Given the description of an element on the screen output the (x, y) to click on. 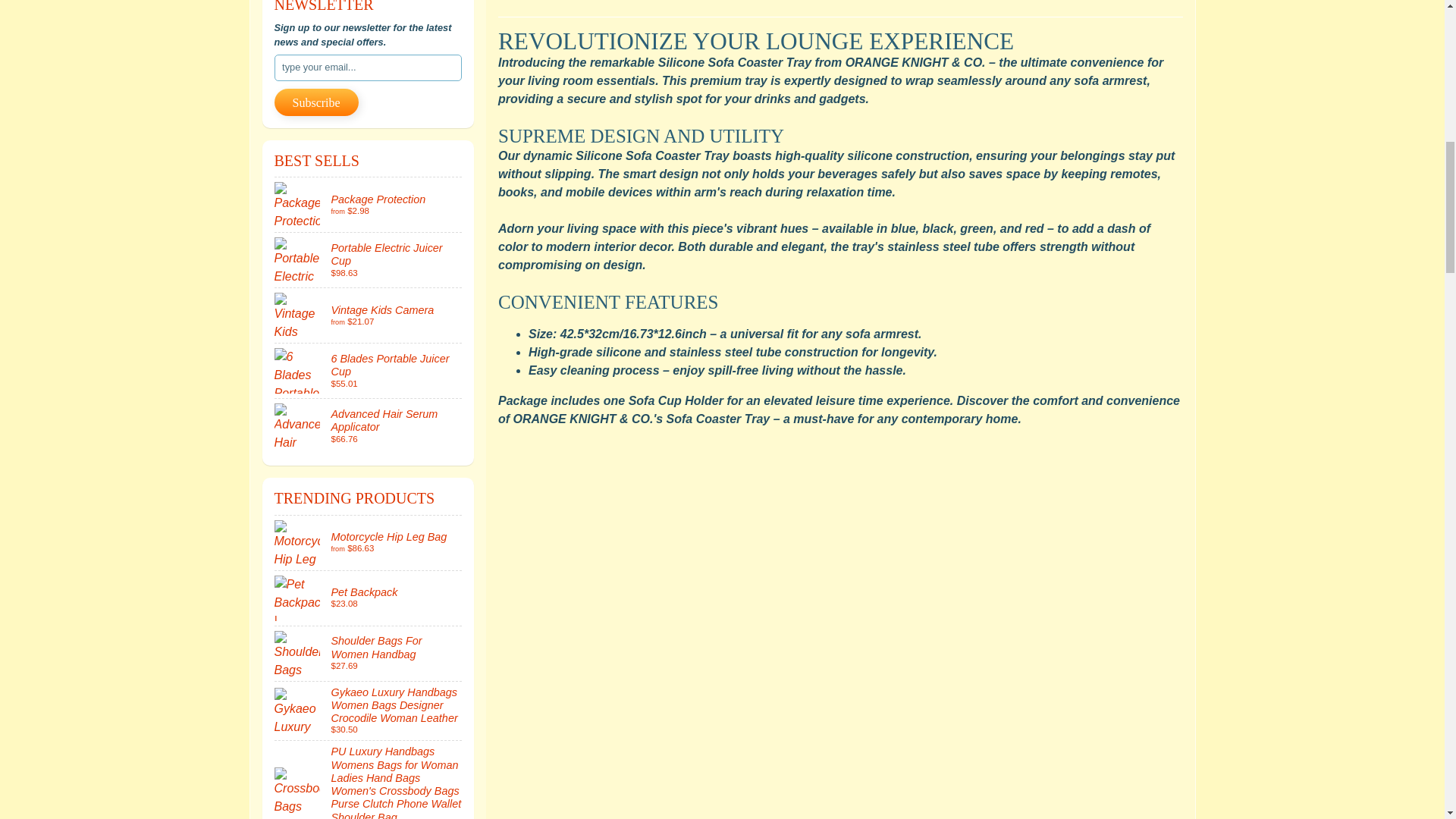
Shoulder Bags For Women Handbag (369, 653)
Advanced Hair Serum Applicator (369, 425)
Portable Electric Juicer Cup (369, 259)
Pet Backpack (369, 597)
Vintage Kids Camera (369, 315)
6 Blades Portable Juicer Cup (369, 370)
Motorcycle Hip Leg Bag (369, 542)
Package Protection (369, 204)
